Given the description of an element on the screen output the (x, y) to click on. 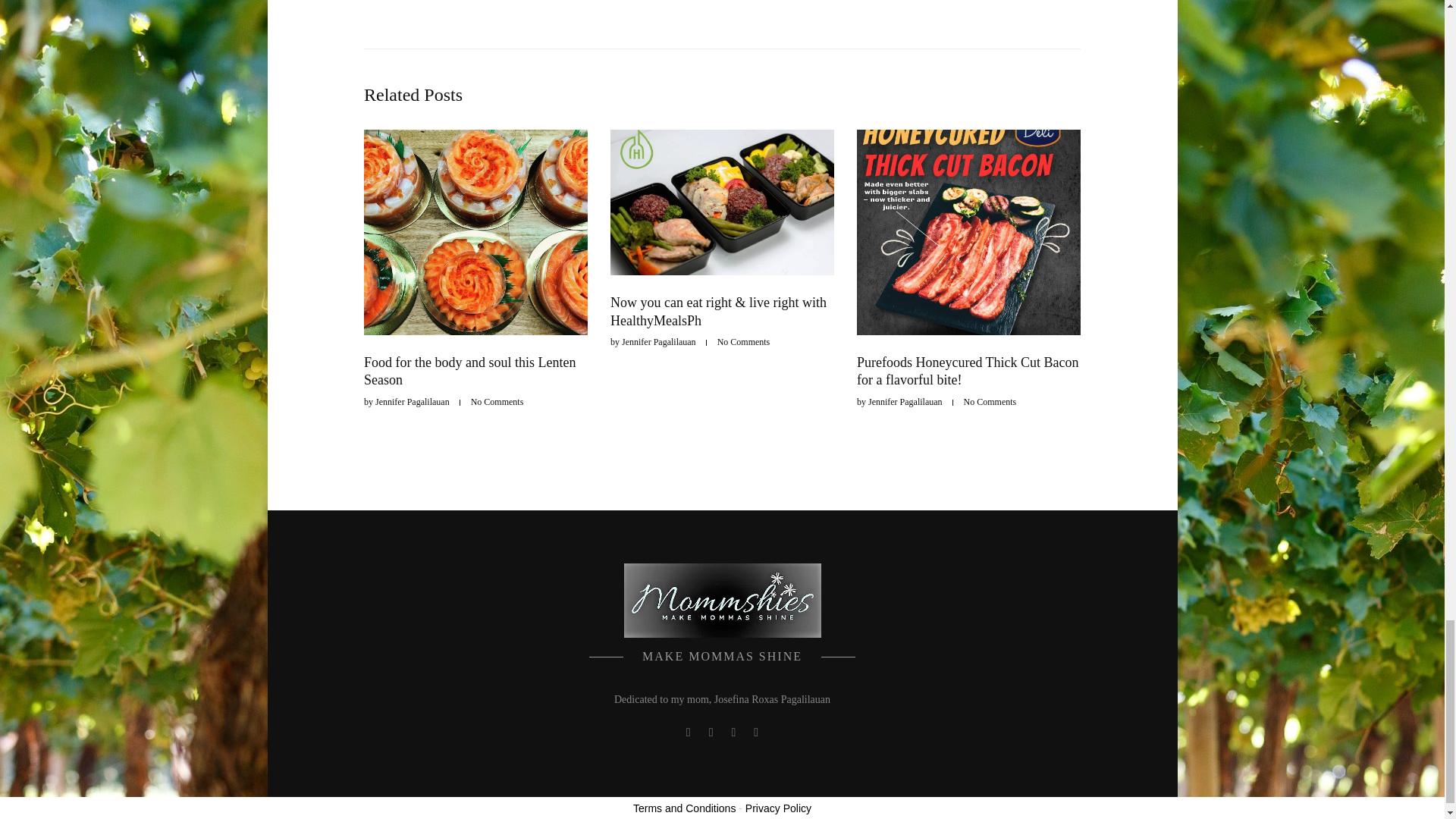
Privacy Policy (777, 808)
Food for the body and soul this Lenten Season (469, 370)
Terms and Conditions (684, 808)
Purefoods Honeycured Thick Cut Bacon for a flavorful bite! (967, 370)
